Given the description of an element on the screen output the (x, y) to click on. 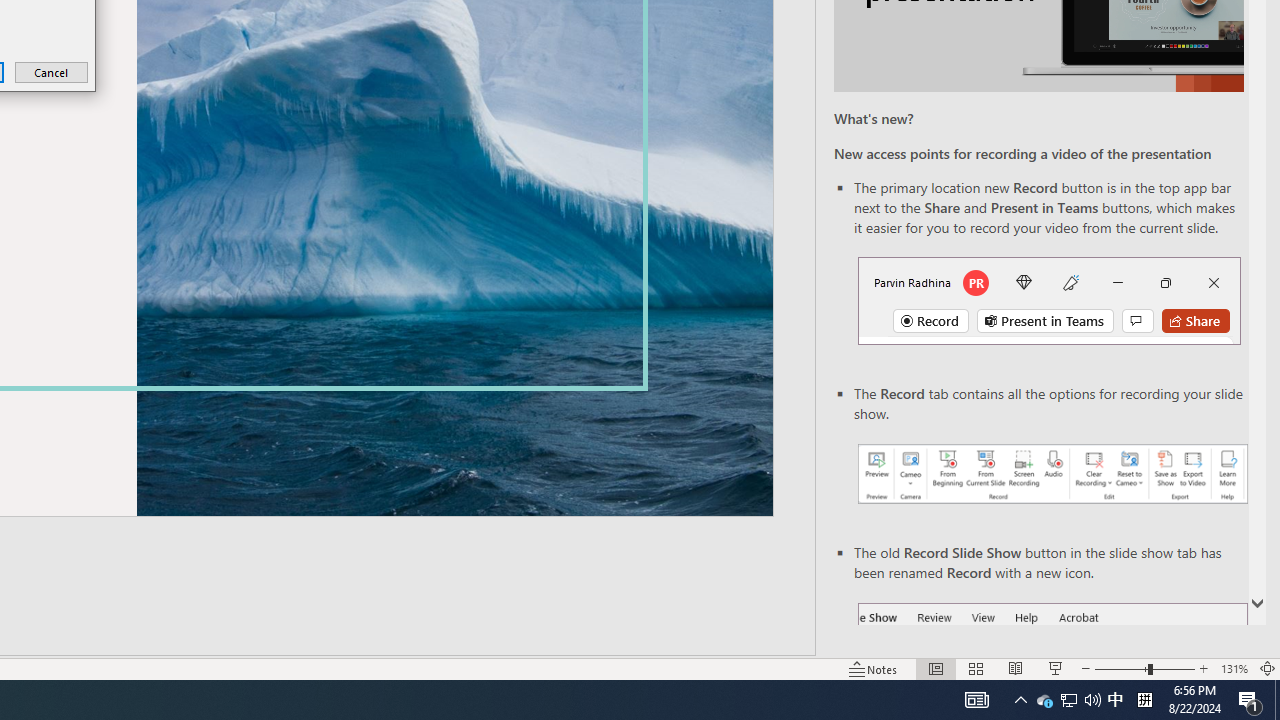
Zoom 131% (1234, 668)
